Given the description of an element on the screen output the (x, y) to click on. 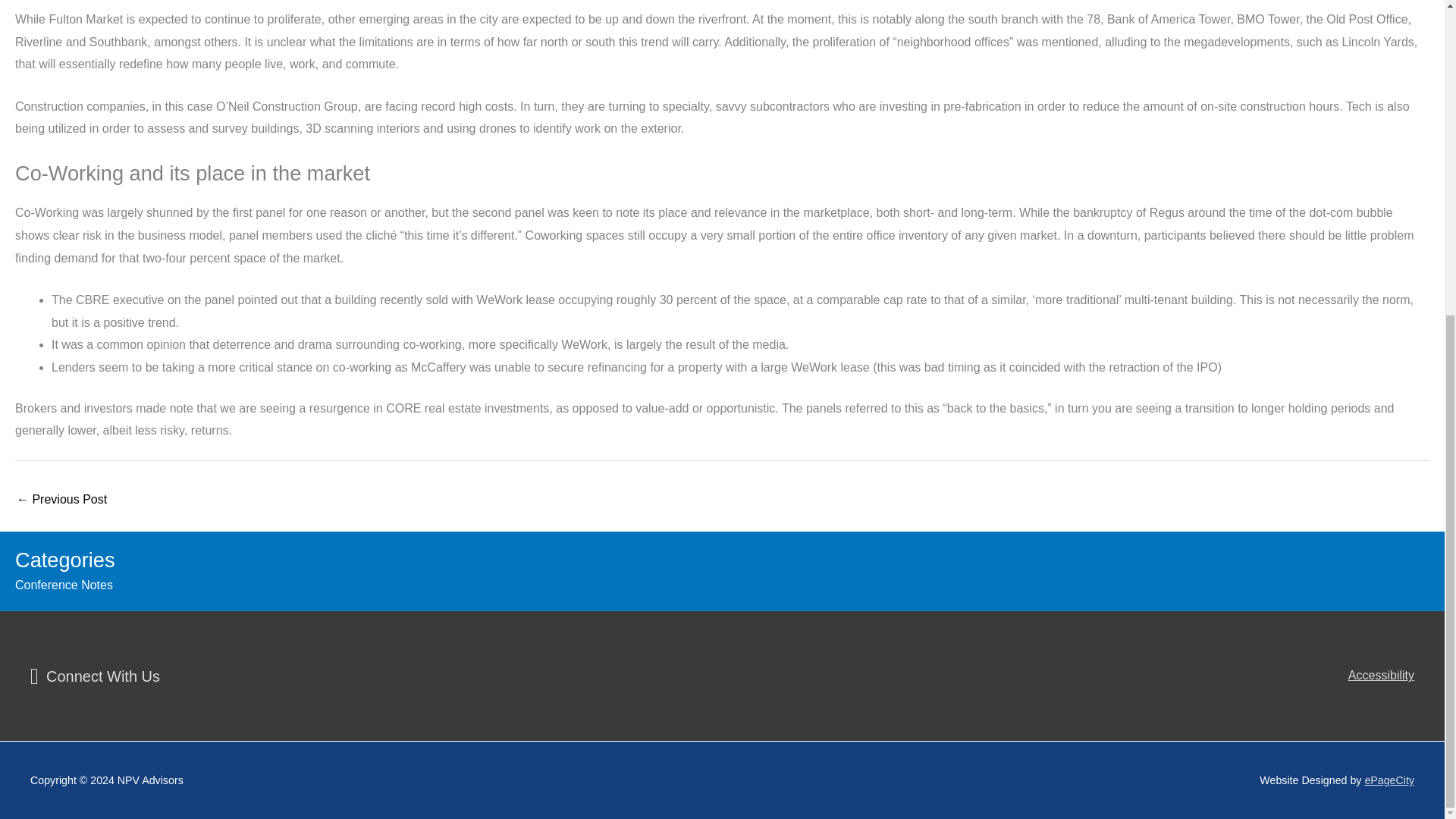
Connect With Us (95, 675)
ePageCity (1388, 779)
Accessibility (1380, 675)
ULI- State of the Retail Market (61, 500)
Conference Notes (63, 584)
